Given the description of an element on the screen output the (x, y) to click on. 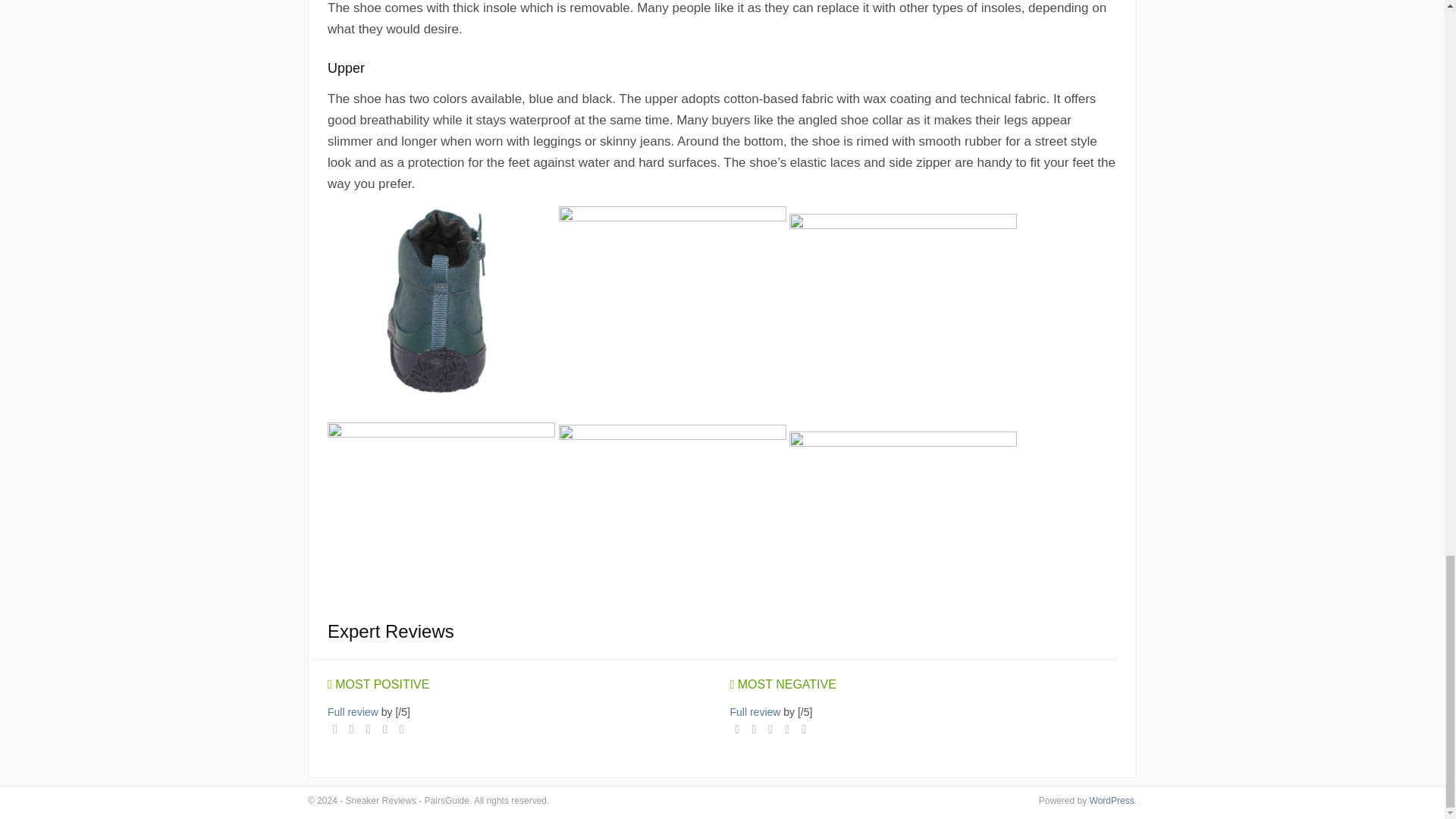
Full review (352, 711)
Full review (754, 711)
WordPress (1111, 800)
